Given the description of an element on the screen output the (x, y) to click on. 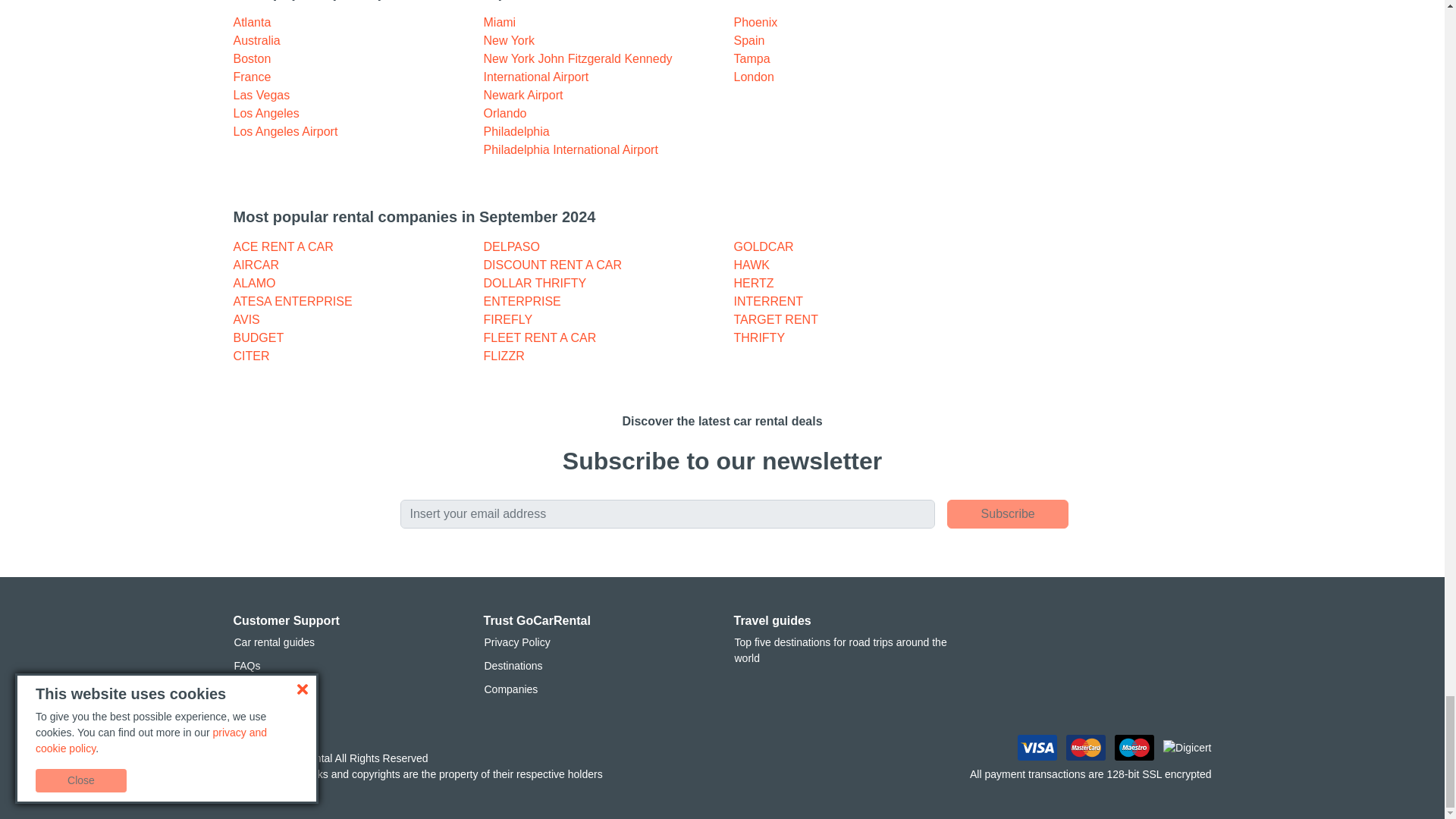
Philadelphia (516, 131)
AIRCAR (255, 264)
Newark Airport (523, 94)
Philadelphia (516, 131)
France (251, 76)
Orlando (505, 113)
ACE RENT A CAR (282, 246)
Los Angeles Airport (284, 131)
New York John Fitzgerald Kennedy International Airport (577, 67)
Las Vegas (260, 94)
